Given the description of an element on the screen output the (x, y) to click on. 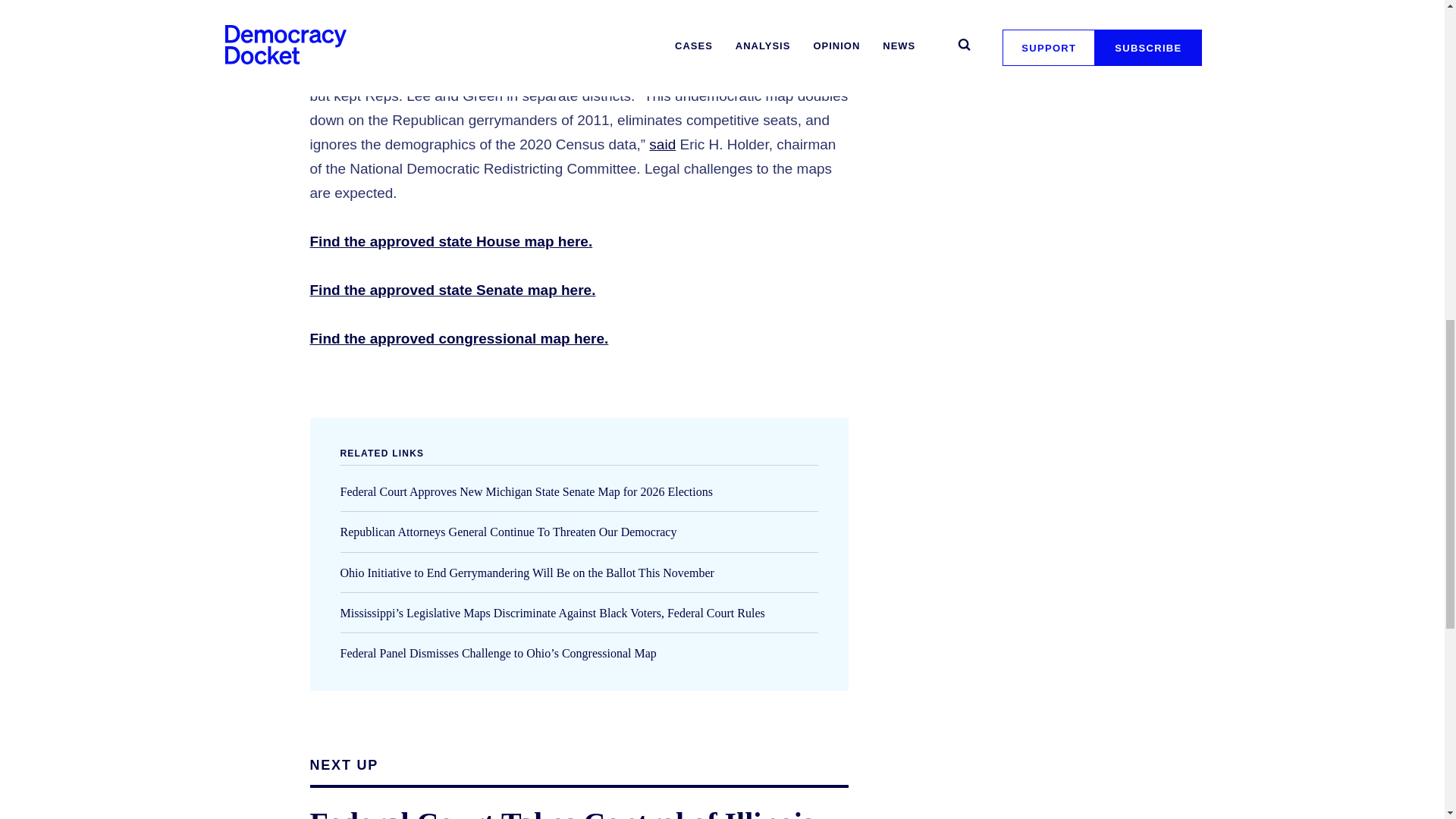
Find the approved state Senate map here. (451, 289)
said (662, 144)
Find the approved congressional map here. (458, 338)
Find the approved state House map here. (450, 241)
